Given the description of an element on the screen output the (x, y) to click on. 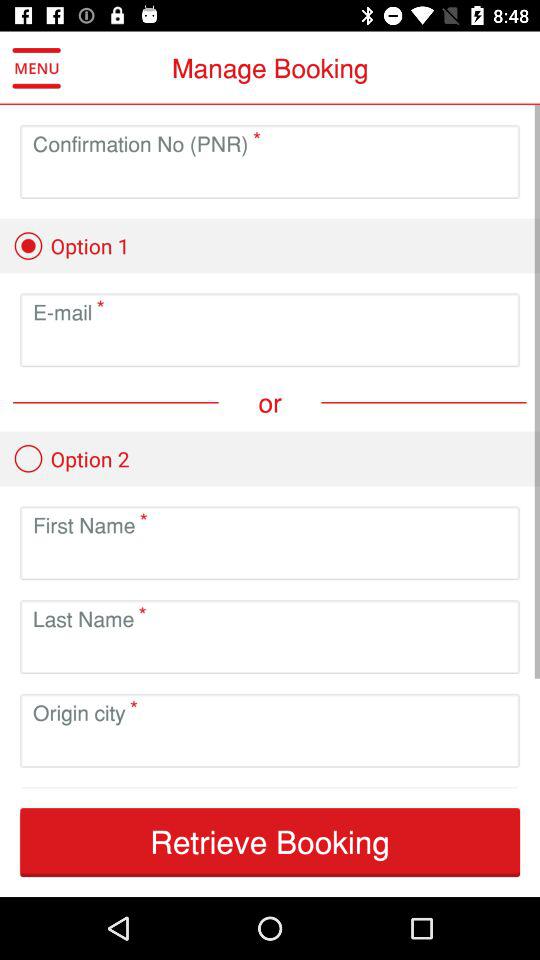
enter confirmation number (270, 177)
